Given the description of an element on the screen output the (x, y) to click on. 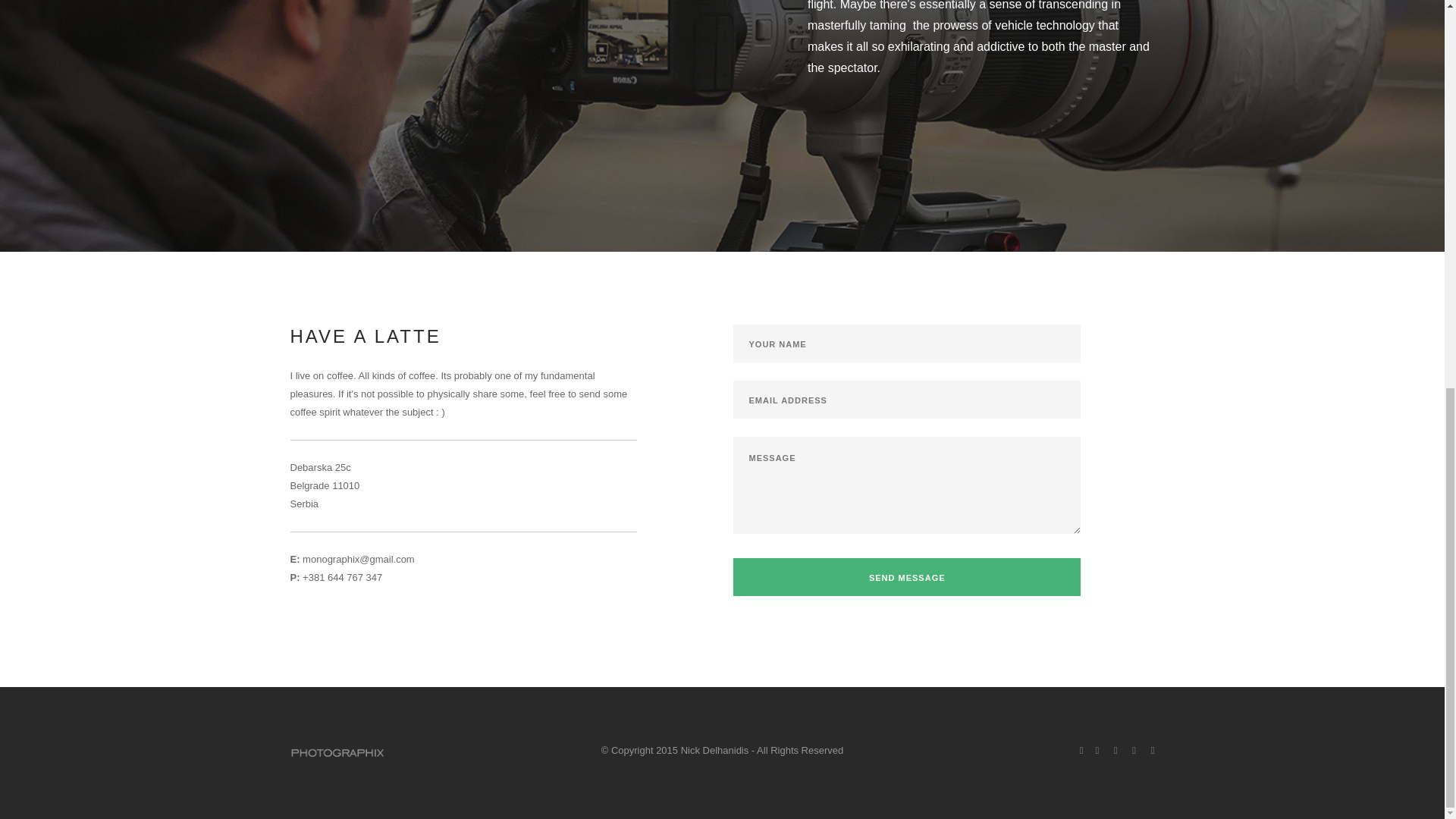
SEND MESSAGE (906, 576)
